Given the description of an element on the screen output the (x, y) to click on. 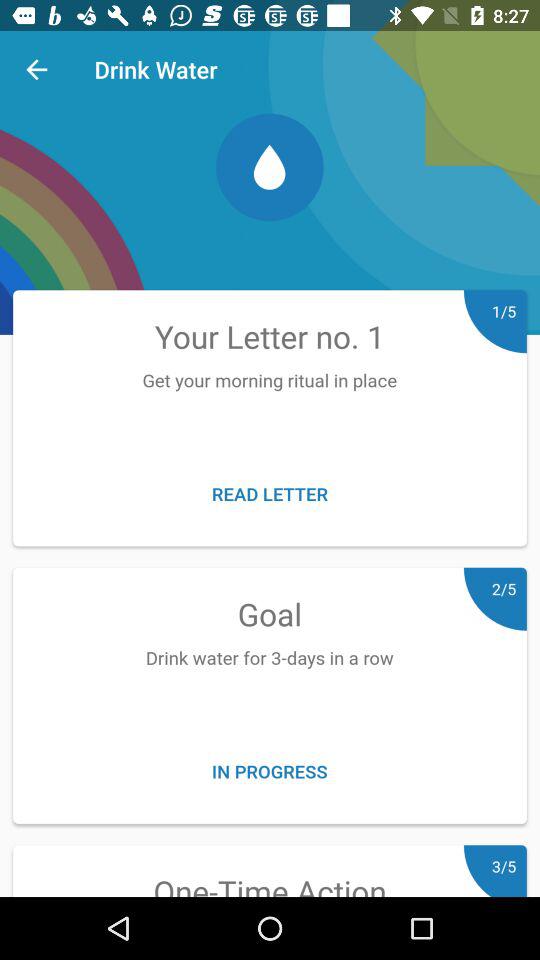
press read letter (269, 493)
